Given the description of an element on the screen output the (x, y) to click on. 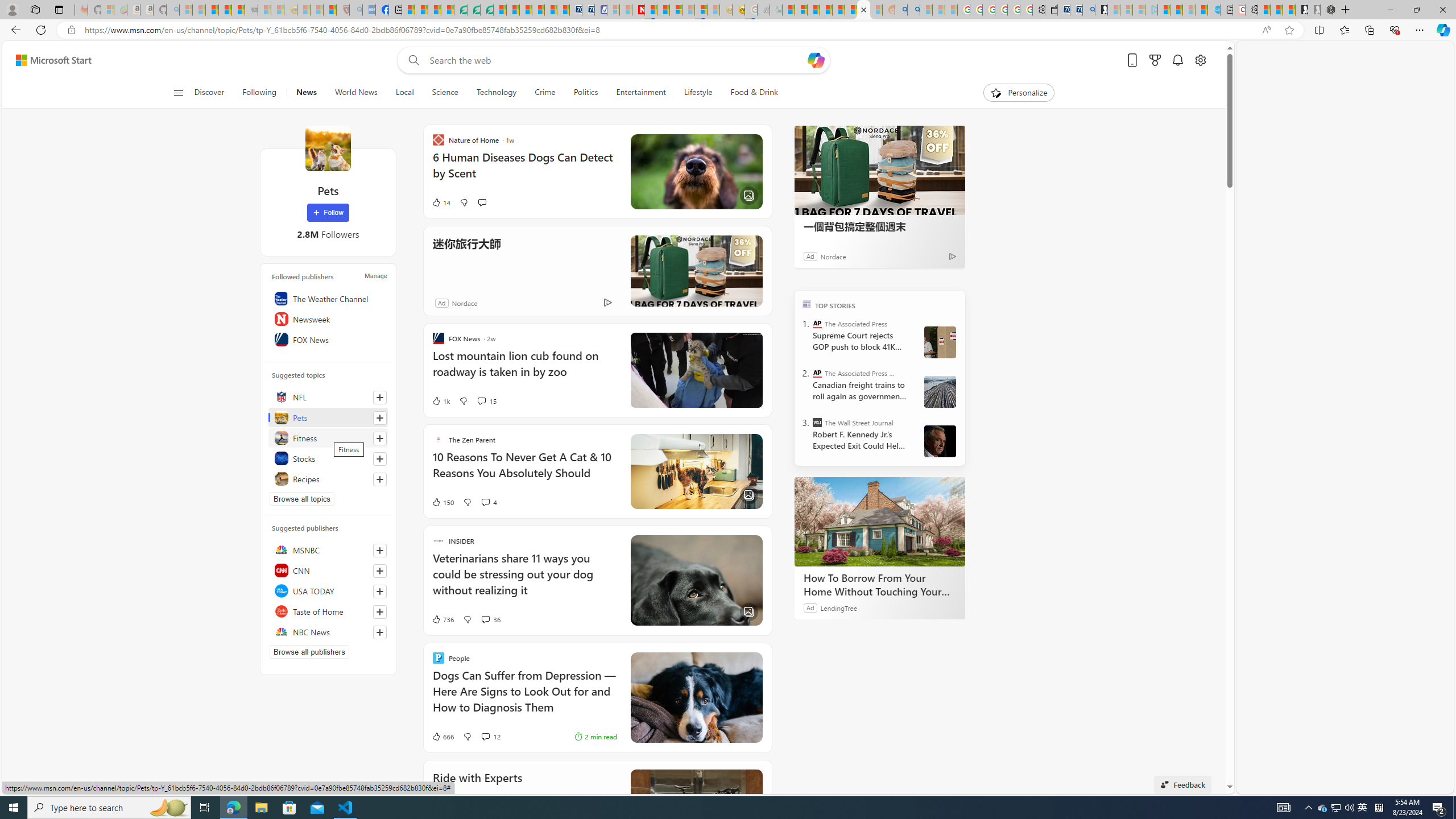
View site information (70, 29)
Follow this topic (379, 479)
Personal Profile (12, 9)
Nordace - Nordace Siena Is Not An Ordinary Backpack (1327, 9)
Technology (496, 92)
Open Copilot (816, 59)
Web search (411, 60)
Utah sues federal government - Search (913, 9)
6 Human Diseases Dogs Can Detect by Scent (524, 171)
View comments 15 Comment (481, 400)
Recipes (327, 478)
